Given the description of an element on the screen output the (x, y) to click on. 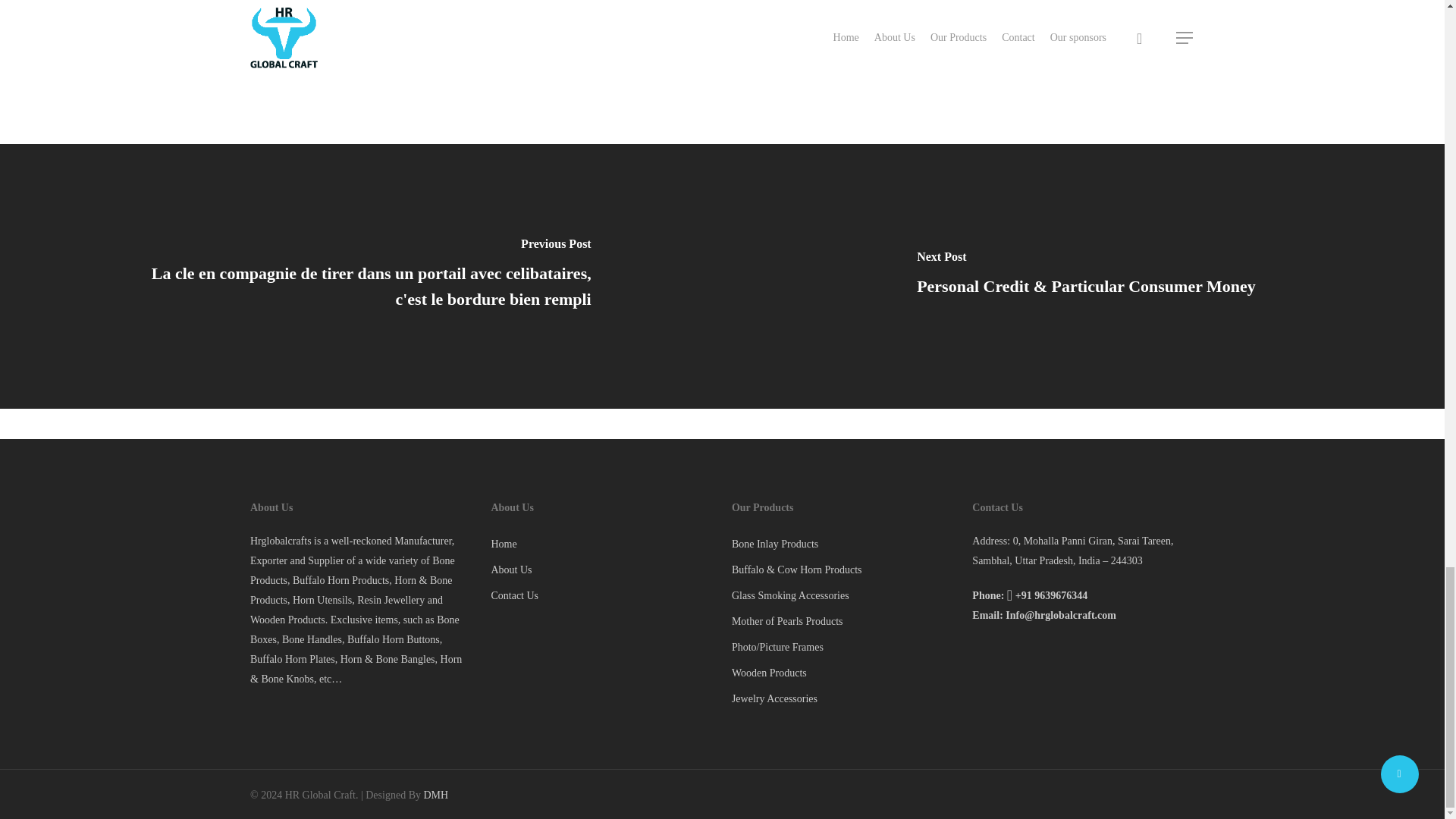
Bone Inlay Products (842, 544)
Contact Us (601, 596)
Glass Smoking Accessories (842, 596)
About Us (601, 569)
Home (601, 544)
Mother of Pearls Products (842, 621)
